Given the description of an element on the screen output the (x, y) to click on. 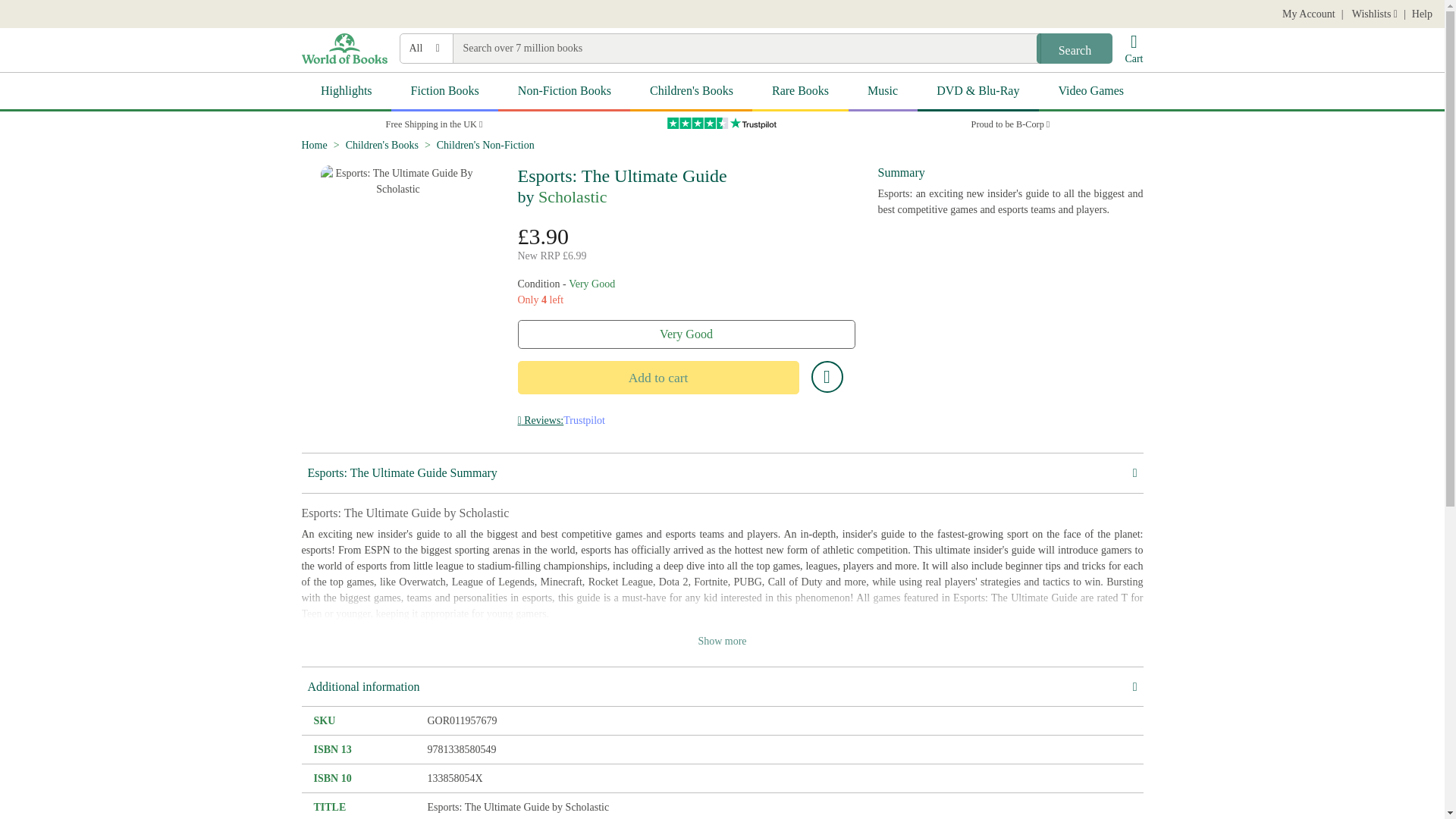
Fiction Books (444, 91)
Non-Fiction Books (563, 91)
Children's Books (691, 91)
Reviews: (539, 420)
Search (1074, 48)
Add to cart (656, 377)
Help (1422, 13)
Wishlists (1373, 13)
Video Games (1090, 91)
Home (314, 144)
Information (539, 420)
Rare Books (799, 91)
Children's Non-Fiction (485, 144)
Very Good (685, 334)
Trustpilot (721, 122)
